Given the description of an element on the screen output the (x, y) to click on. 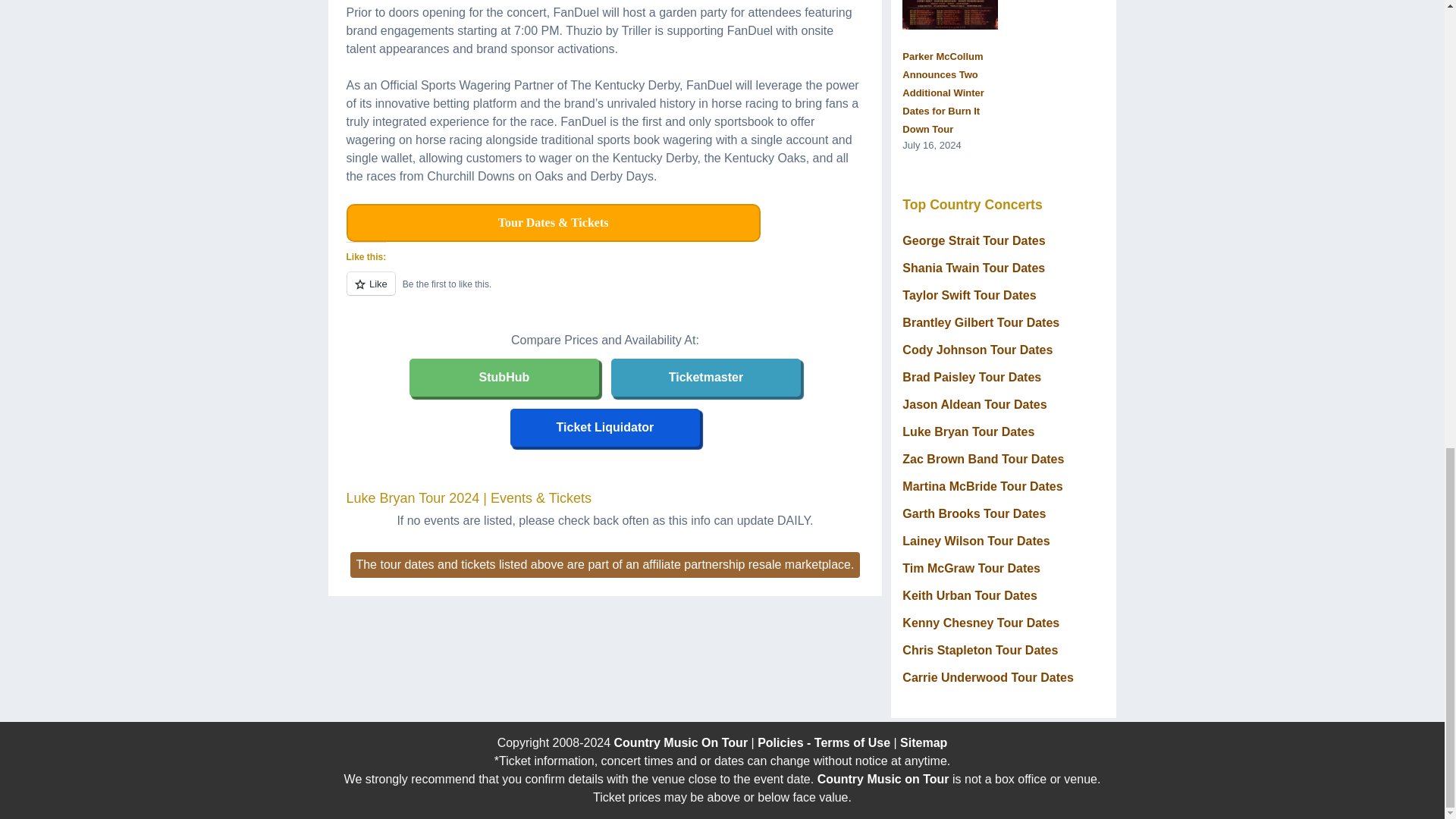
Find Luke Bryan Tickets (604, 427)
Like or Reblog (604, 291)
Find Luke Bryan Tickets (705, 377)
Find Luke Bryan Tickets (504, 377)
